Given the description of an element on the screen output the (x, y) to click on. 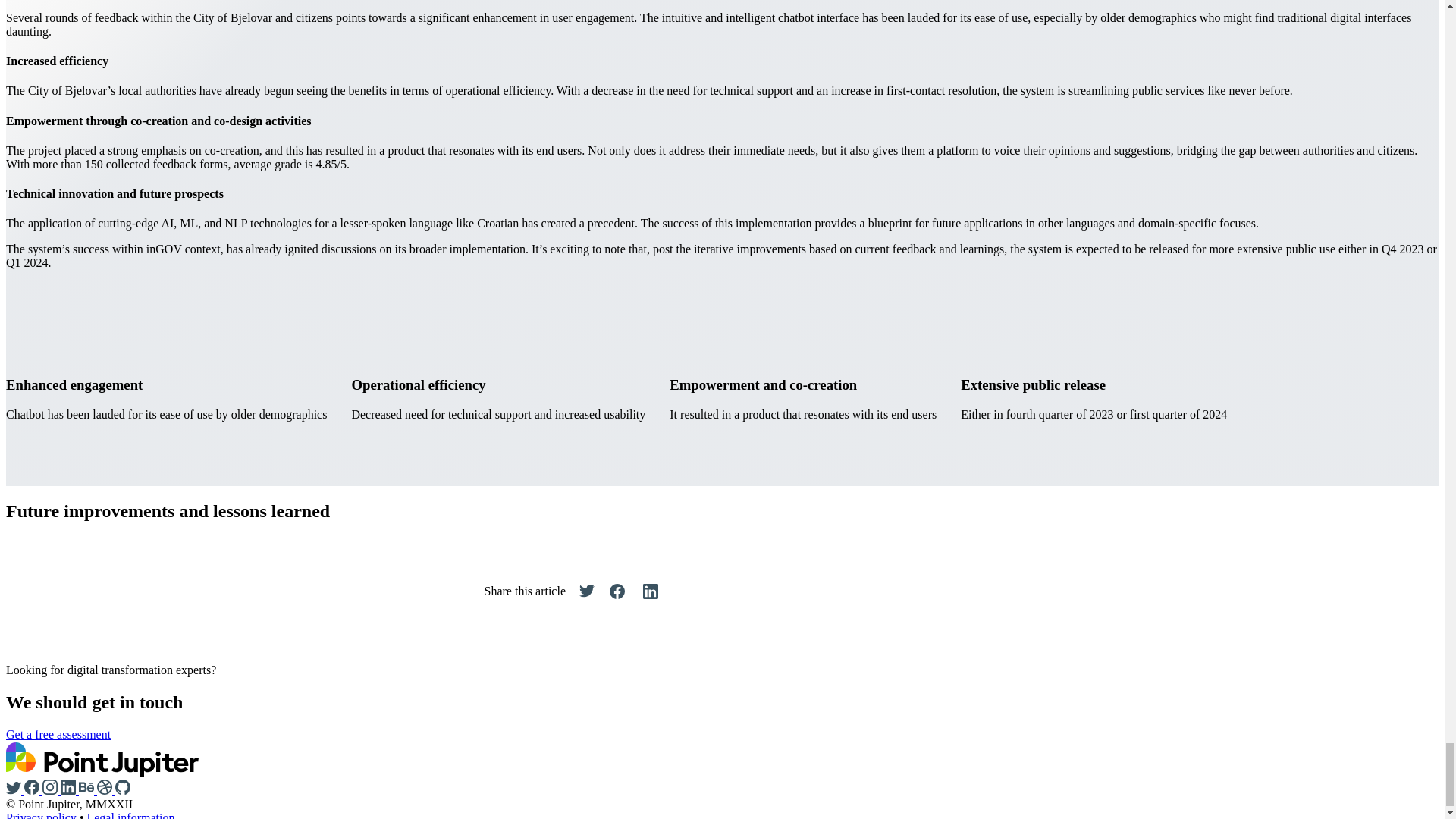
github (123, 789)
linkedin (69, 789)
instagram (50, 786)
behance (86, 786)
instagram (51, 789)
dribble (104, 786)
github (123, 786)
facebook (31, 786)
Get a free assessment (57, 734)
dribble (106, 789)
